Given the description of an element on the screen output the (x, y) to click on. 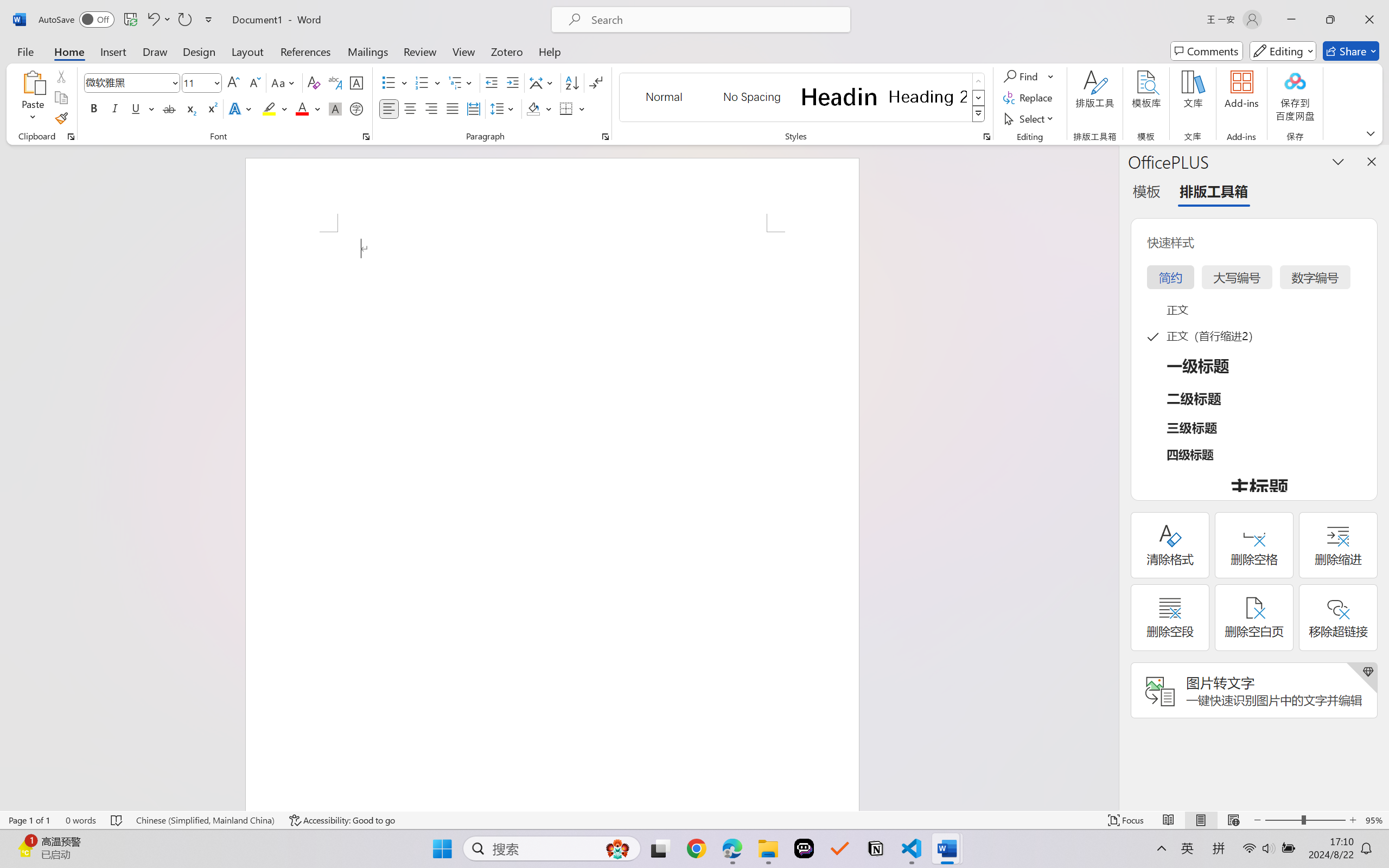
Class: NetUIScrollBar (1111, 477)
